Given the description of an element on the screen output the (x, y) to click on. 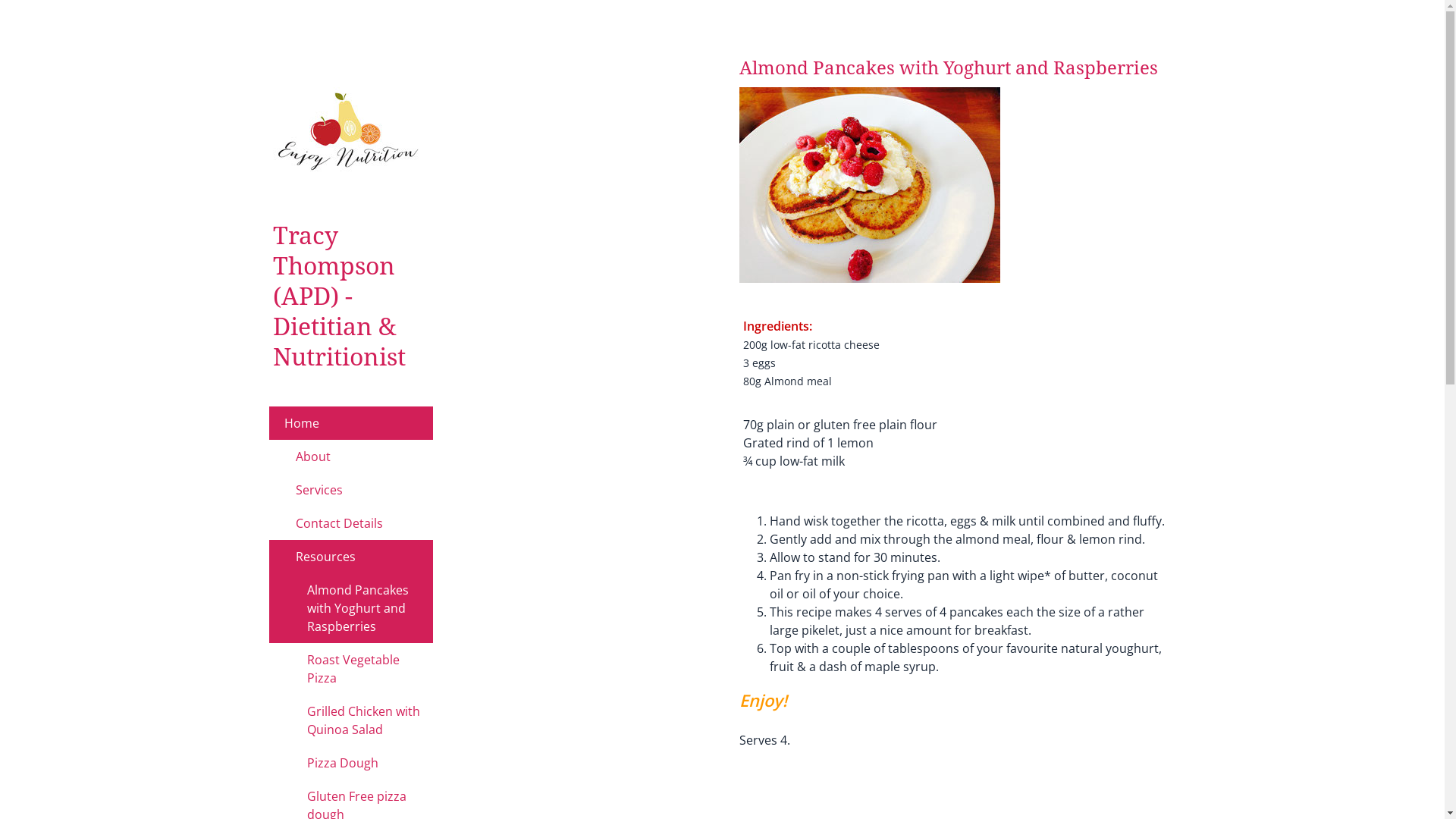
Pizza Dough Element type: text (351, 762)
Services Element type: text (351, 489)
Grilled Chicken with Quinoa Salad Element type: text (351, 720)
Resources Element type: text (351, 556)
Contact Details Element type: text (351, 522)
Tracy Thompson (APD) - Dietitian & Nutritionist Element type: text (339, 300)
About Element type: text (351, 456)
Almond Pancakes with Yoghurt and Raspberries Element type: text (351, 608)
Roast Vegetable Pizza Element type: text (351, 668)
Home Element type: text (351, 422)
